Given the description of an element on the screen output the (x, y) to click on. 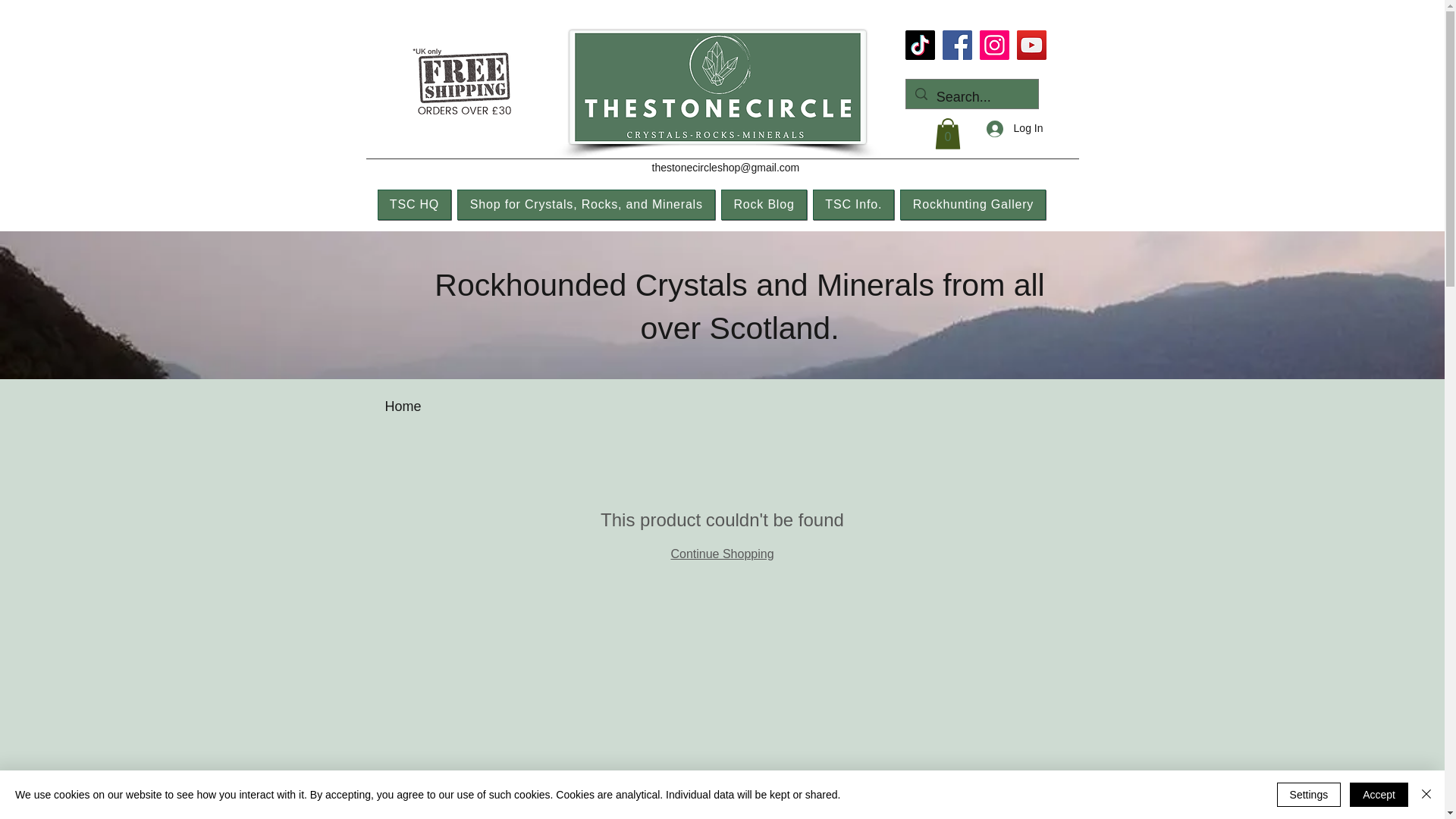
TSC HQ (414, 204)
TSC Info. (853, 204)
Home (403, 406)
Rockhunting Gallery (972, 204)
Continue Shopping (721, 553)
Log In (1014, 128)
Shop for Crystals, Rocks, and Minerals (585, 204)
Rock Blog (763, 204)
google adsense link (321, 347)
